Given the description of an element on the screen output the (x, y) to click on. 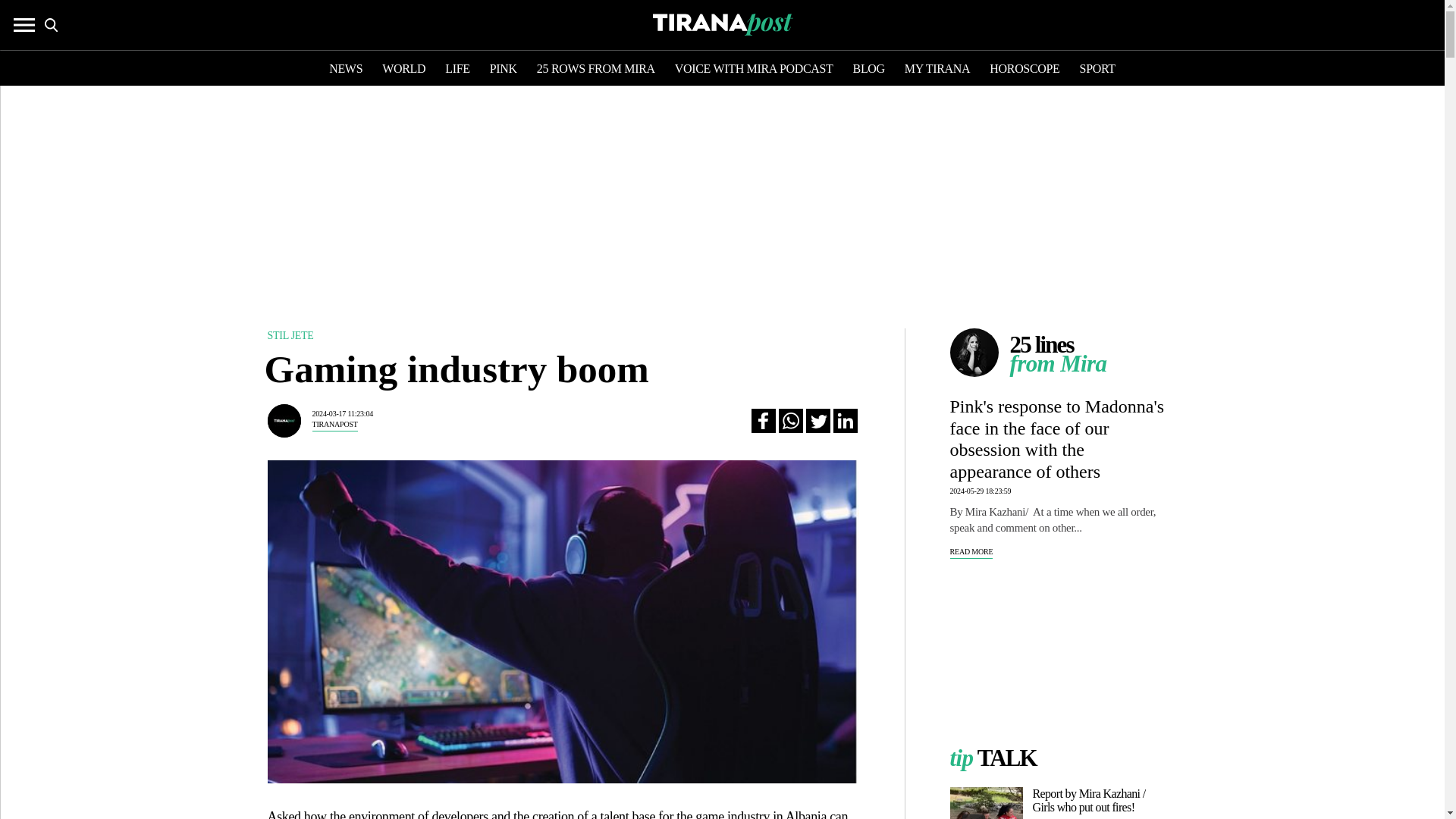
BLOG (869, 69)
PINK (502, 69)
MY TIRANA (936, 69)
VOICE WITH MIRA PODCAST (753, 69)
SPORT (1097, 69)
WORLD (403, 69)
25 ROWS FROM MIRA (596, 69)
STIL JETE (289, 335)
HOROSCOPE (1024, 69)
LinkedIn (844, 420)
LinkedIn (844, 420)
LIFE (457, 69)
NEWS (345, 69)
